Given the description of an element on the screen output the (x, y) to click on. 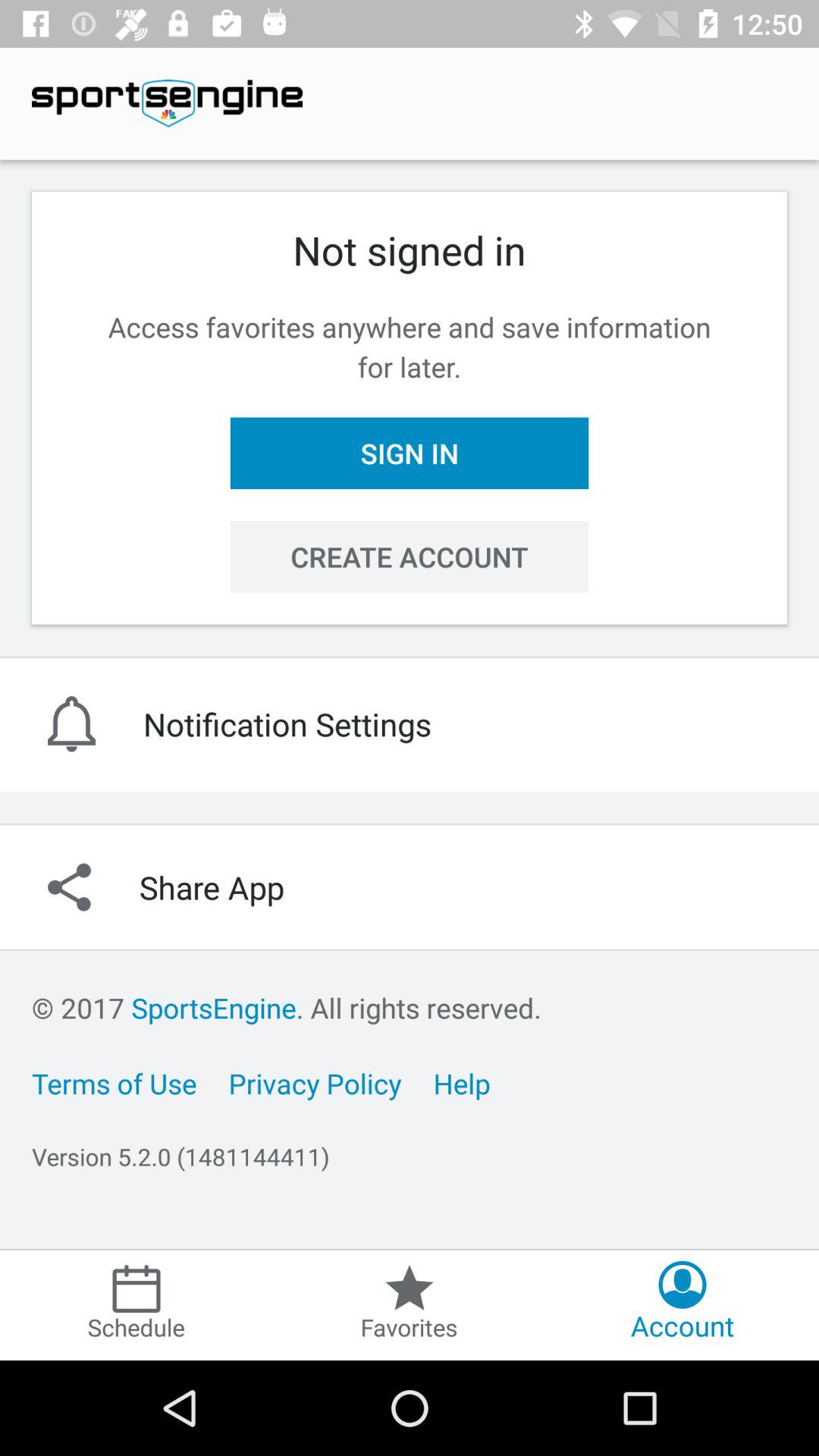
scroll until create account item (409, 556)
